Given the description of an element on the screen output the (x, y) to click on. 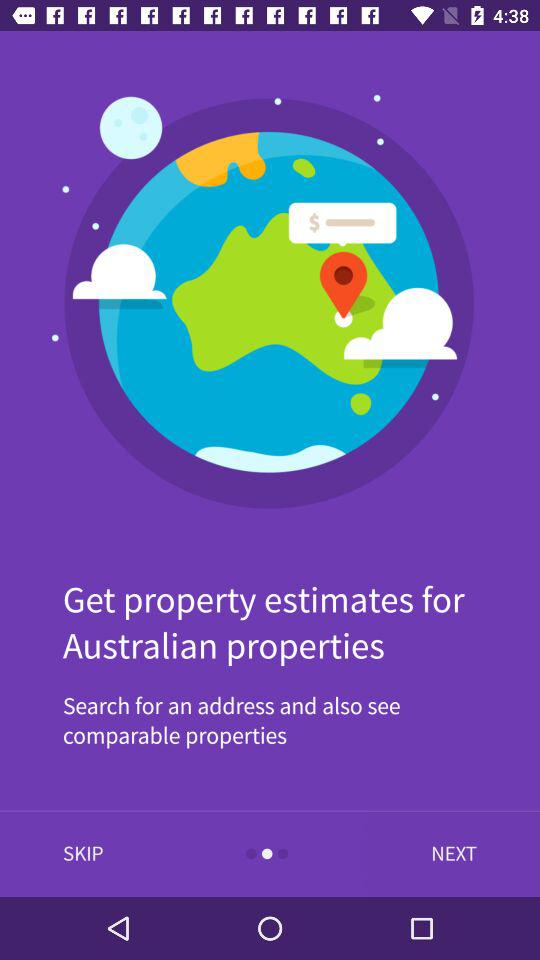
press icon at the bottom right corner (449, 853)
